Given the description of an element on the screen output the (x, y) to click on. 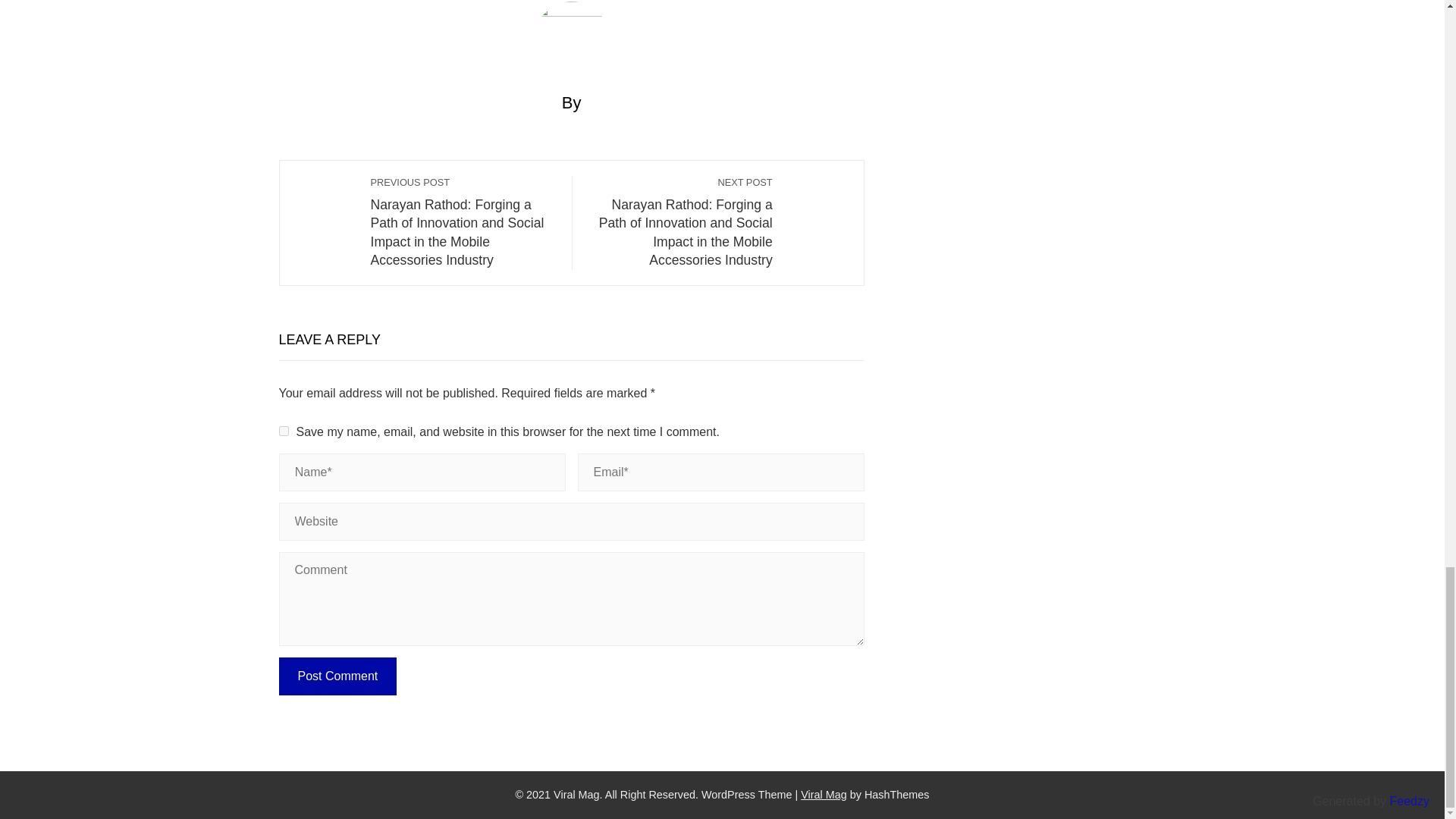
Viral Mag (823, 794)
yes (283, 430)
Post Comment (338, 676)
Post Comment (338, 676)
Download Viral News (823, 794)
